Given the description of an element on the screen output the (x, y) to click on. 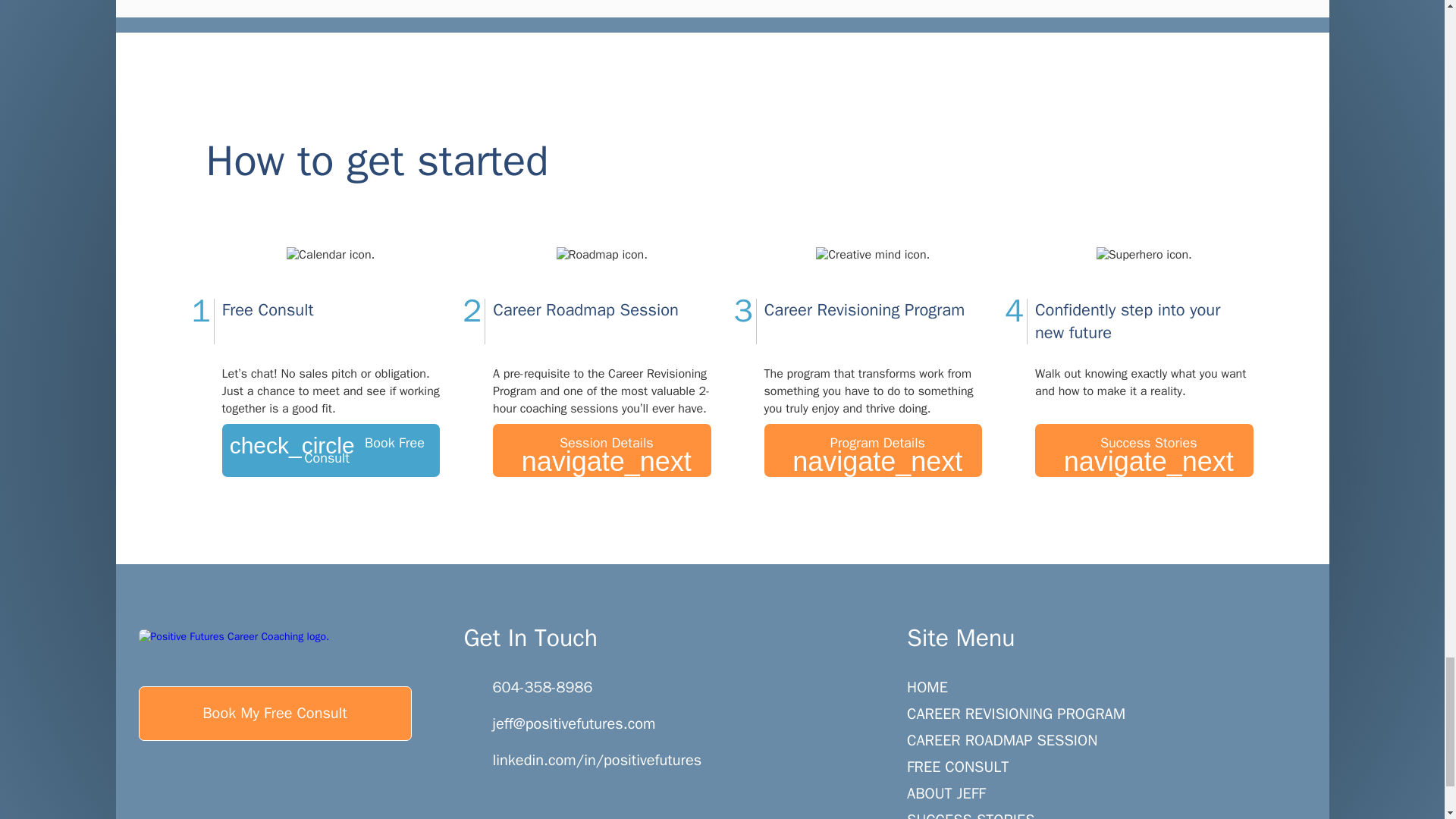
Book My Free Consult (274, 713)
HOME (1118, 687)
CAREER ROADMAP SESSION (1118, 740)
ABOUT JEFF (1118, 793)
SUCCESS STORIES (1118, 816)
CAREER REVISIONING PROGRAM (1118, 713)
FREE CONSULT (1118, 767)
604-358-8986 (528, 693)
